Given the description of an element on the screen output the (x, y) to click on. 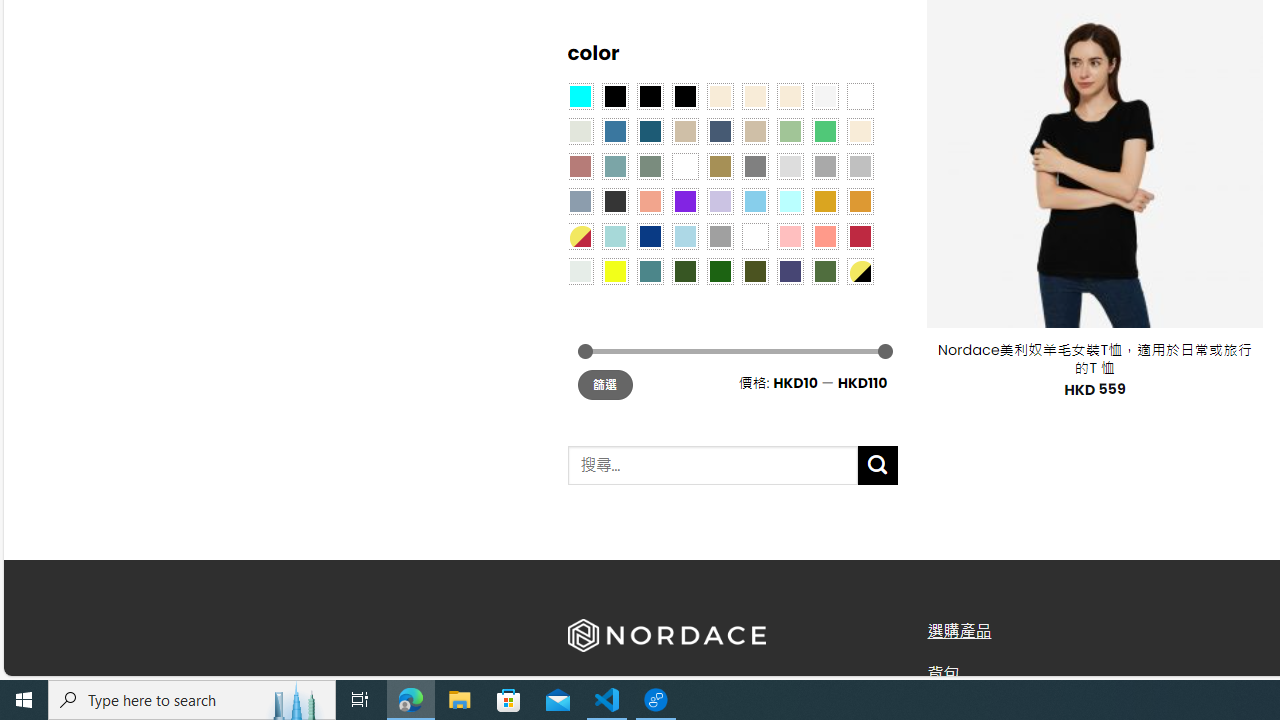
Cream (789, 95)
